Given the description of an element on the screen output the (x, y) to click on. 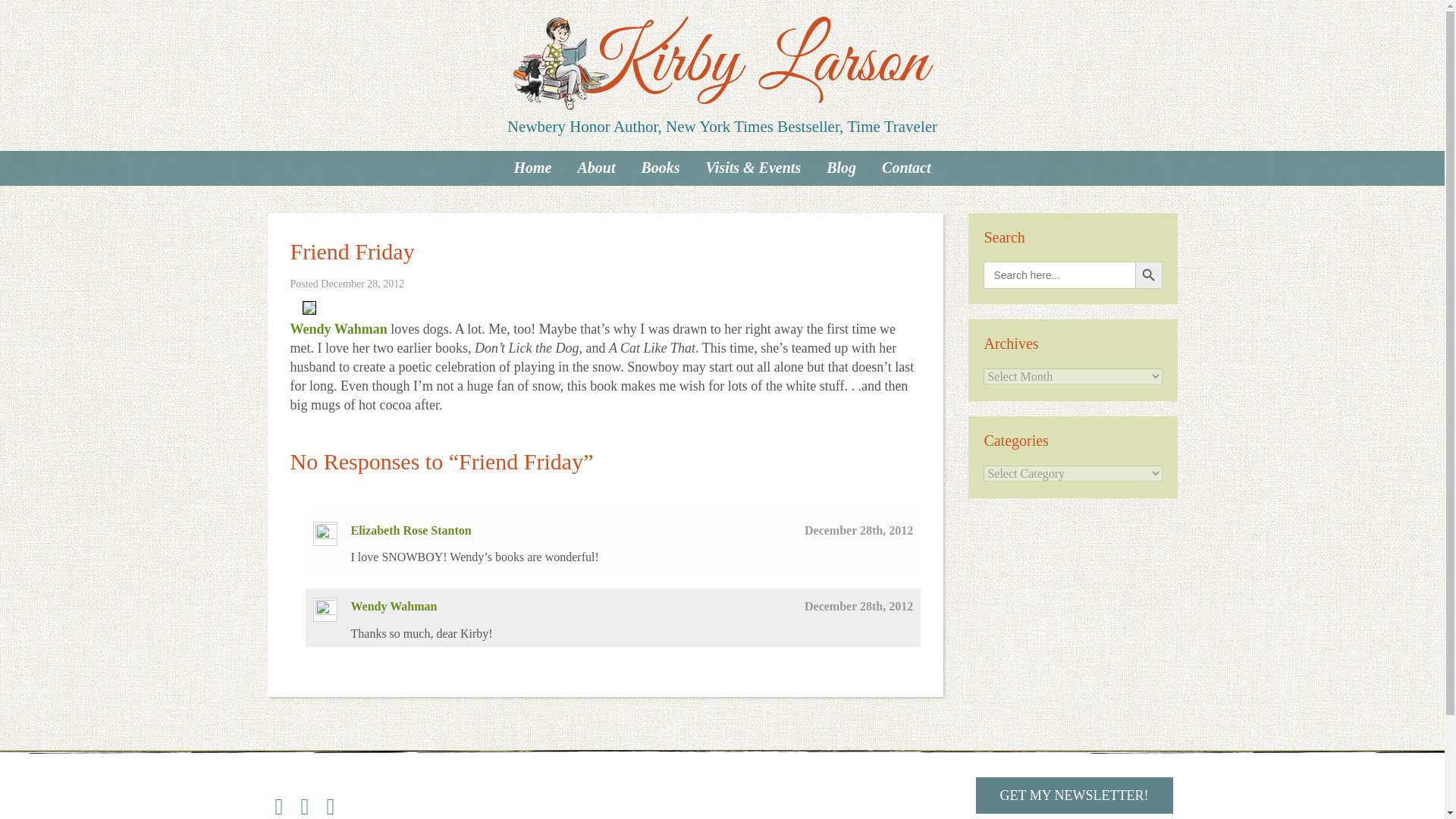
December 28th, 2012 (858, 530)
Blog (841, 167)
Elizabeth Rose Stanton (410, 530)
Wendy Wahman (393, 605)
December 28th, 2012 (858, 605)
Books (659, 167)
Wendy Wahman (338, 328)
GET MY NEWSLETTER! (1073, 795)
Home (532, 167)
About (596, 167)
